Given the description of an element on the screen output the (x, y) to click on. 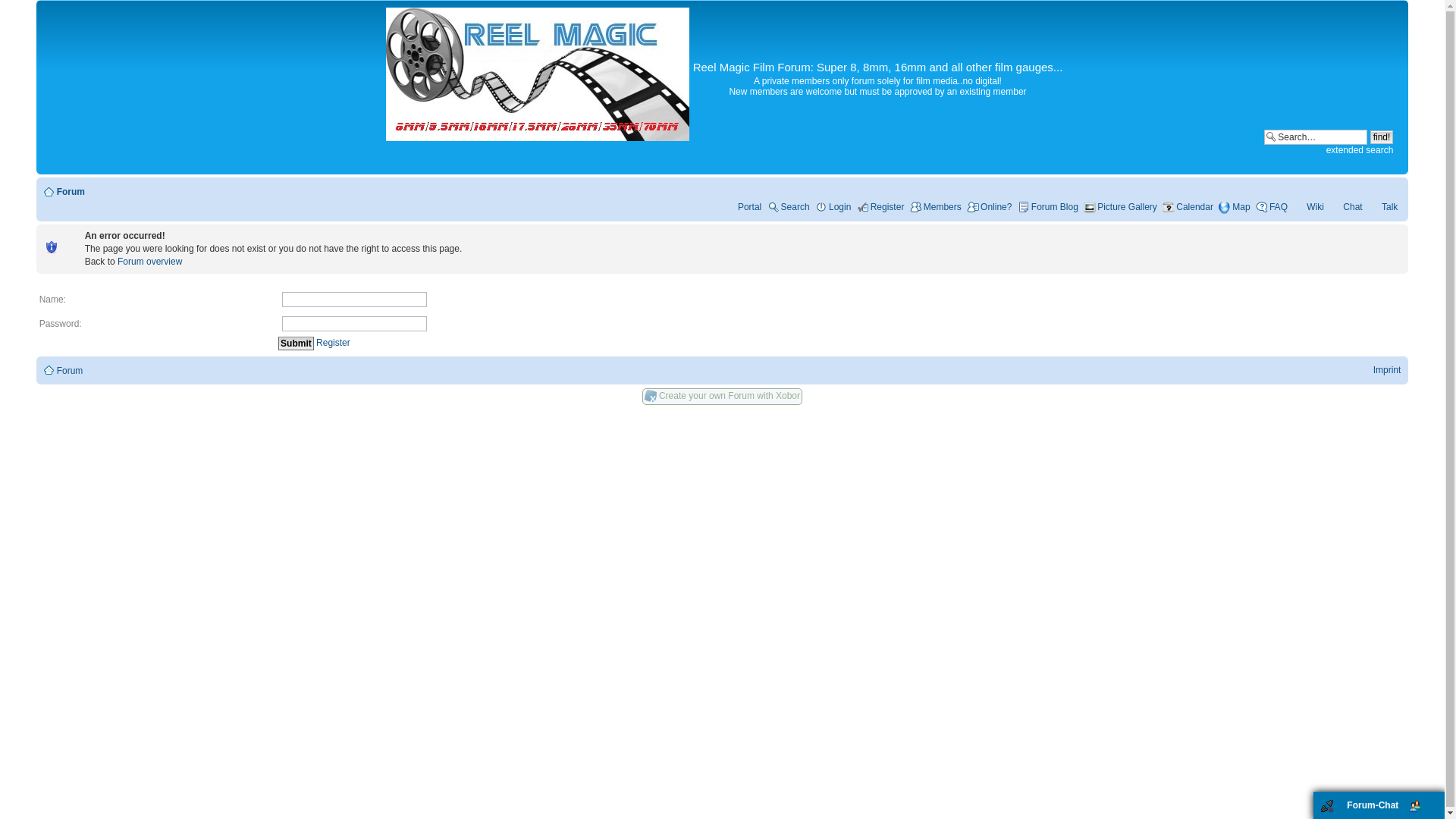
Portal (742, 206)
Online? (988, 206)
Imprint (1386, 369)
Forum (70, 191)
Login (832, 206)
Forum Blog (1047, 206)
find! (1381, 137)
Submit (296, 343)
Submit (296, 343)
Wiki (1307, 206)
Members (935, 206)
Search (1315, 136)
extended search (1359, 149)
Register (332, 342)
Search (788, 206)
